Given the description of an element on the screen output the (x, y) to click on. 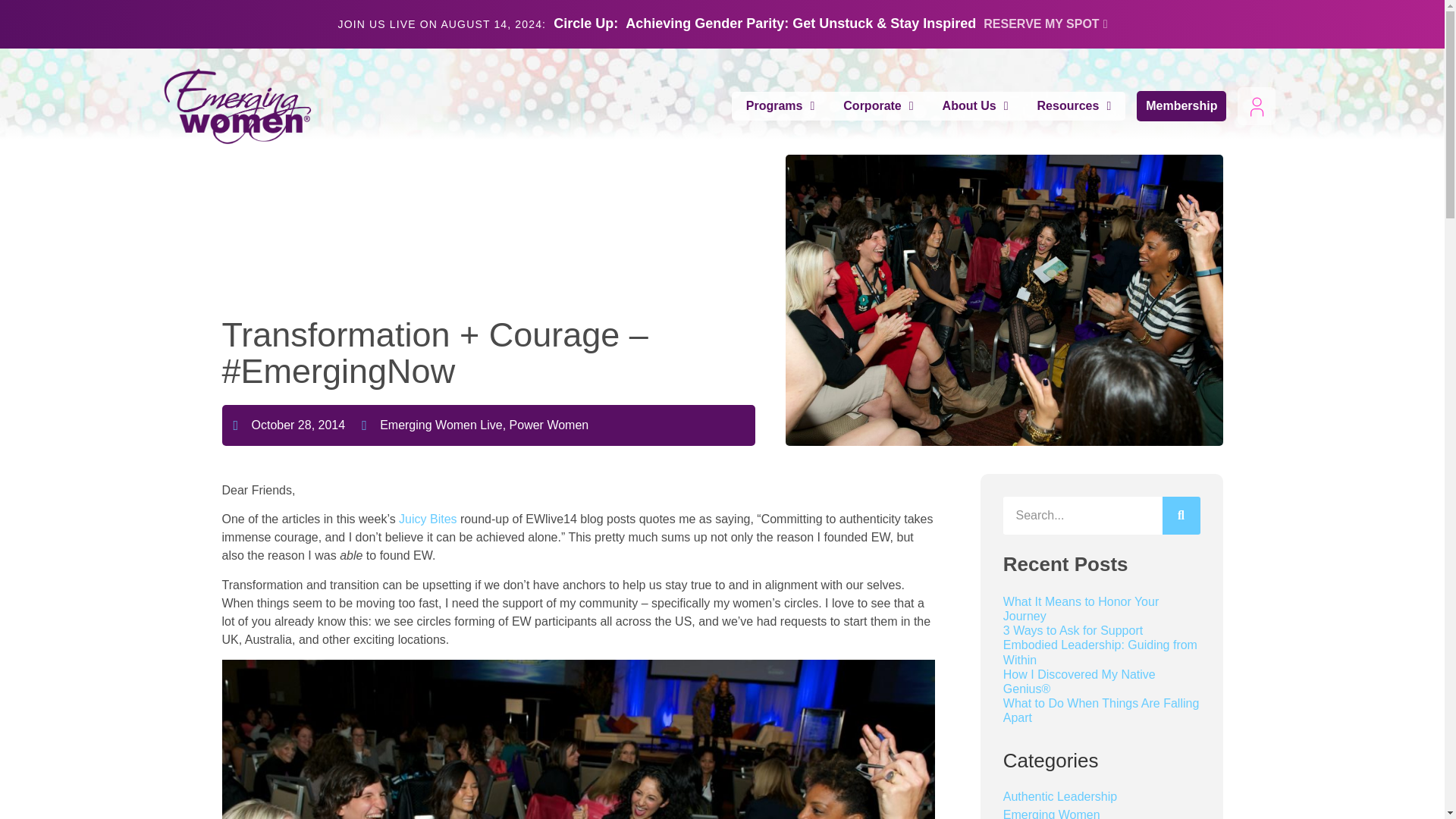
About Us (975, 105)
Homepage (237, 106)
RESERVE MY SPOT (1045, 23)
Programs (780, 105)
Resources (1074, 105)
Membership (1181, 105)
Corporate (877, 105)
